Given the description of an element on the screen output the (x, y) to click on. 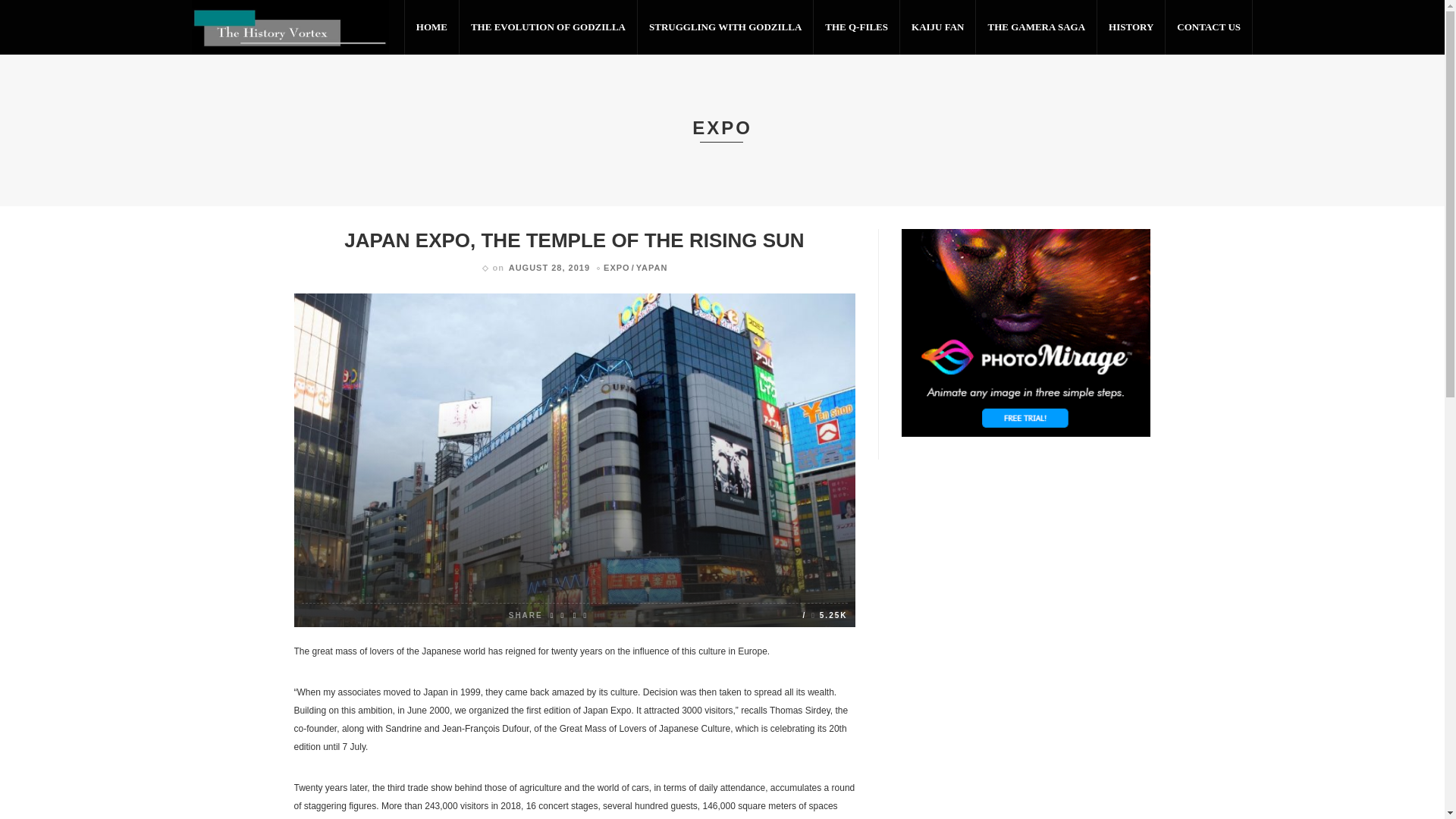
JAPAN EXPO, THE TEMPLE OF THE RISING SUN (409, 373)
JAPAN EXPO, THE TEMPLE OF THE RISING SUN (573, 240)
Japan Expo, the Temple of the Rising Sun (573, 240)
The History Vortex (289, 26)
CONTACT US (1209, 27)
THE EVOLUTION OF GODZILLA (548, 27)
Japan Expo, the Temple of the Rising Sun (824, 614)
Godzilla in America (312, 494)
5.25K (824, 614)
HOME (432, 27)
Search (894, 607)
KAIJU FAN (937, 27)
THE GAMERA SAGA (1036, 27)
Godzilla in America (393, 475)
Godzilla in USA (312, 432)
